Given the description of an element on the screen output the (x, y) to click on. 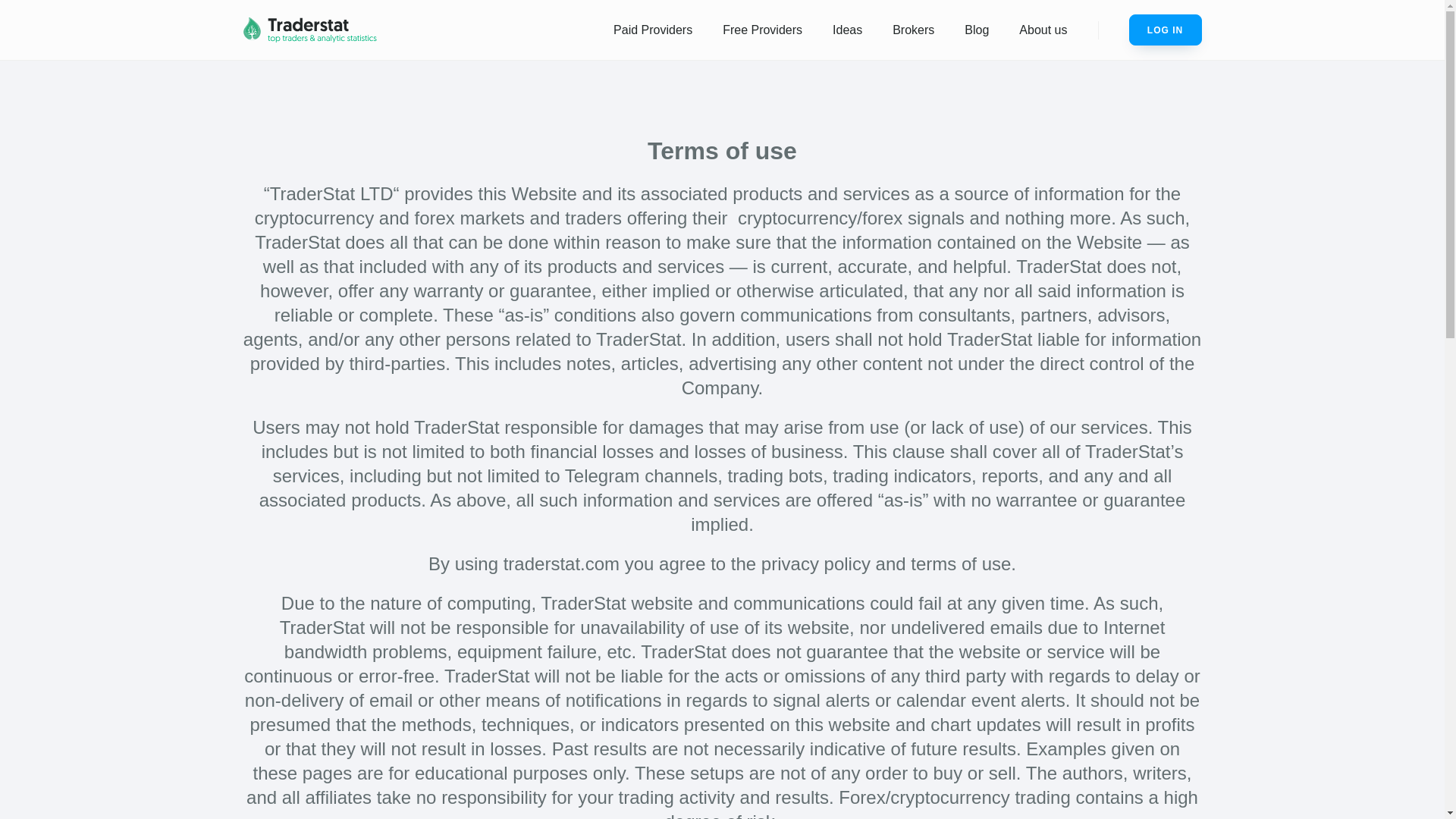
Blog (976, 30)
Paid Providers (652, 30)
Free Providers (761, 30)
About us (1042, 30)
Brokers (913, 30)
LOG IN (1164, 29)
Ideas (846, 30)
